Given the description of an element on the screen output the (x, y) to click on. 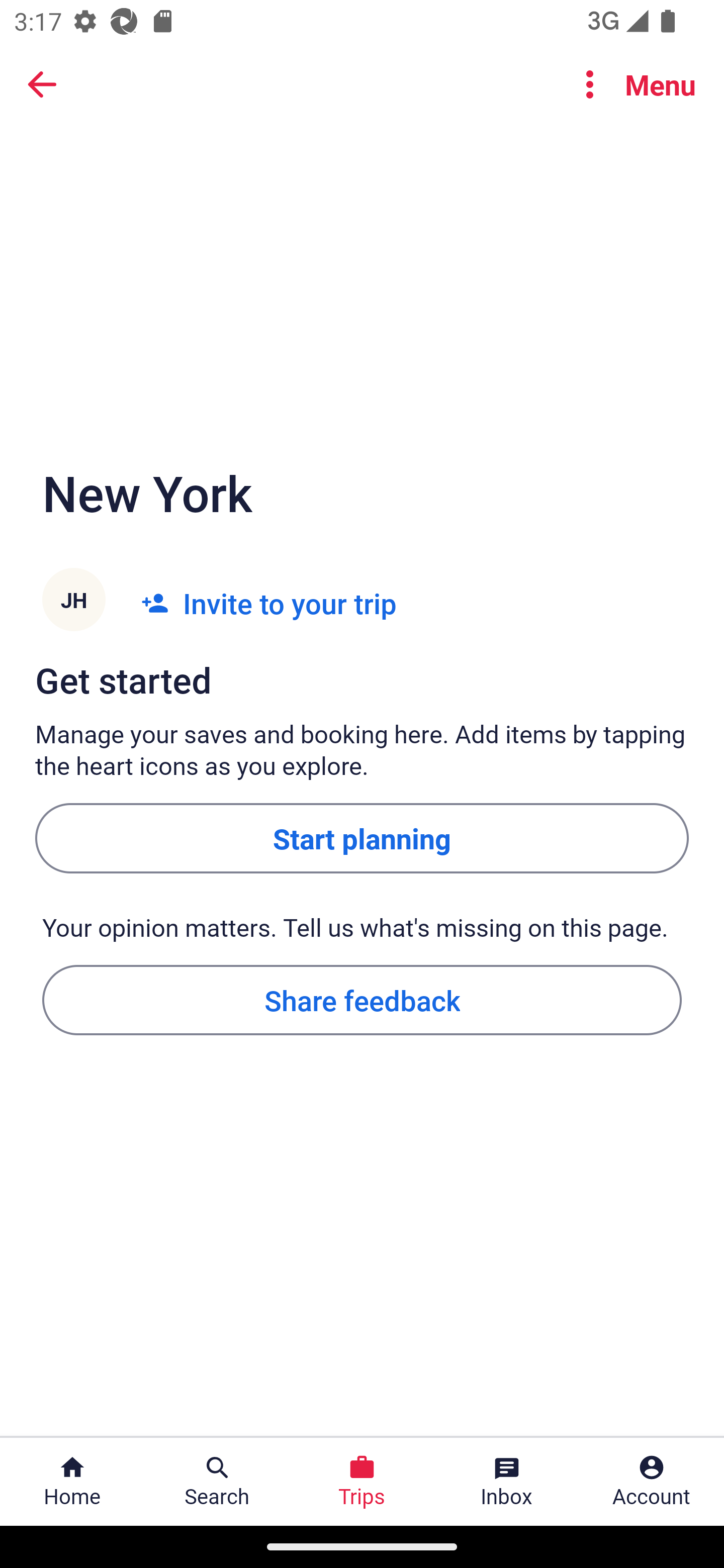
Menu Menu Button (632, 84)
BACK (41, 83)
JH J​H (73, 602)
Share feedback Button Share feedback (361, 999)
Home Home Button (72, 1481)
Search Search Button (216, 1481)
Inbox Inbox Button (506, 1481)
Account Profile. Button (651, 1481)
